Given the description of an element on the screen output the (x, y) to click on. 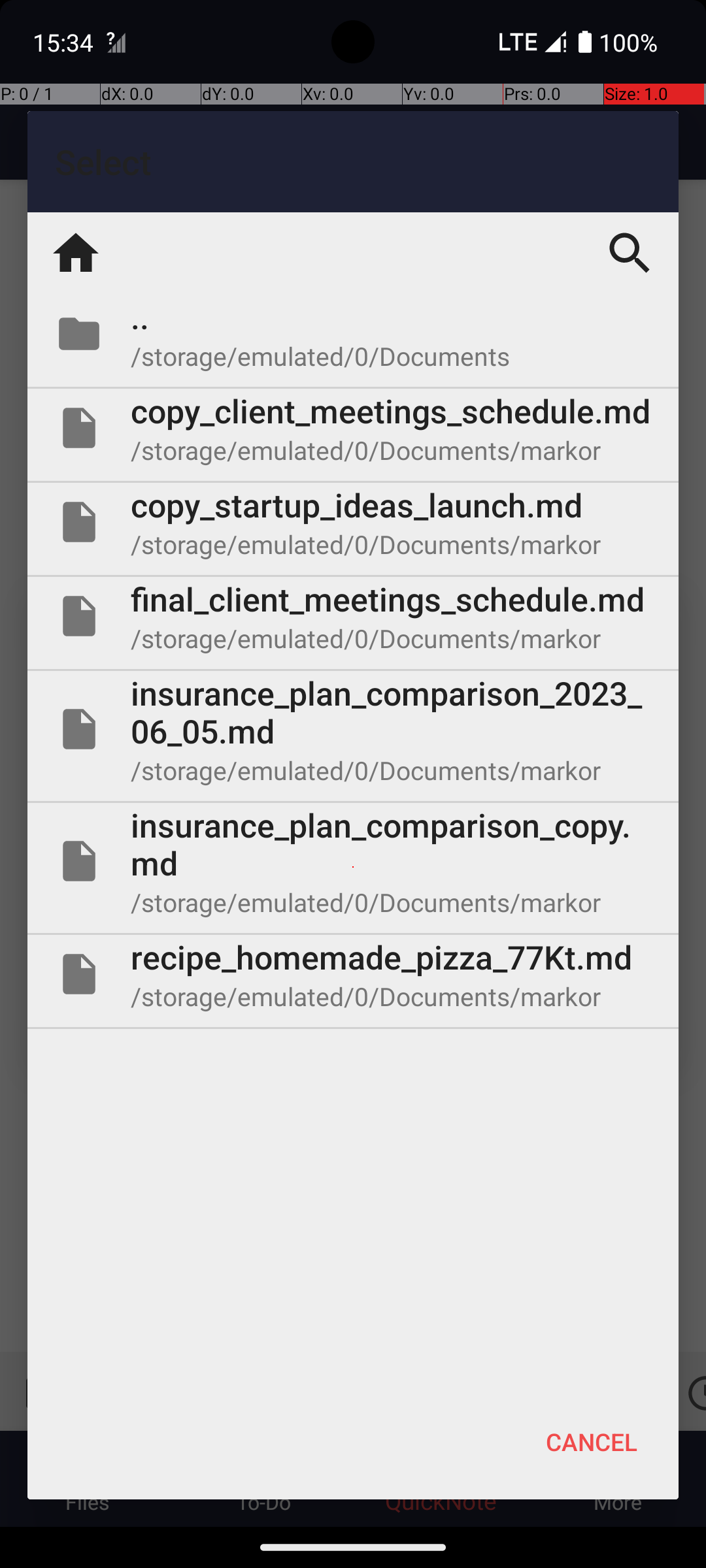
Select Element type: android.widget.TextView (352, 161)
File copy_client_meetings_schedule.md  Element type: android.widget.LinearLayout (352, 427)
File copy_startup_ideas_launch.md  Element type: android.widget.LinearLayout (352, 521)
File final_client_meetings_schedule.md  Element type: android.widget.LinearLayout (352, 615)
File insurance_plan_comparison_2023_06_05.md  Element type: android.widget.LinearLayout (352, 728)
File insurance_plan_comparison_copy.md  Element type: android.widget.LinearLayout (352, 860)
File recipe_homemade_pizza_77Kt.md  Element type: android.widget.LinearLayout (352, 973)
